Given the description of an element on the screen output the (x, y) to click on. 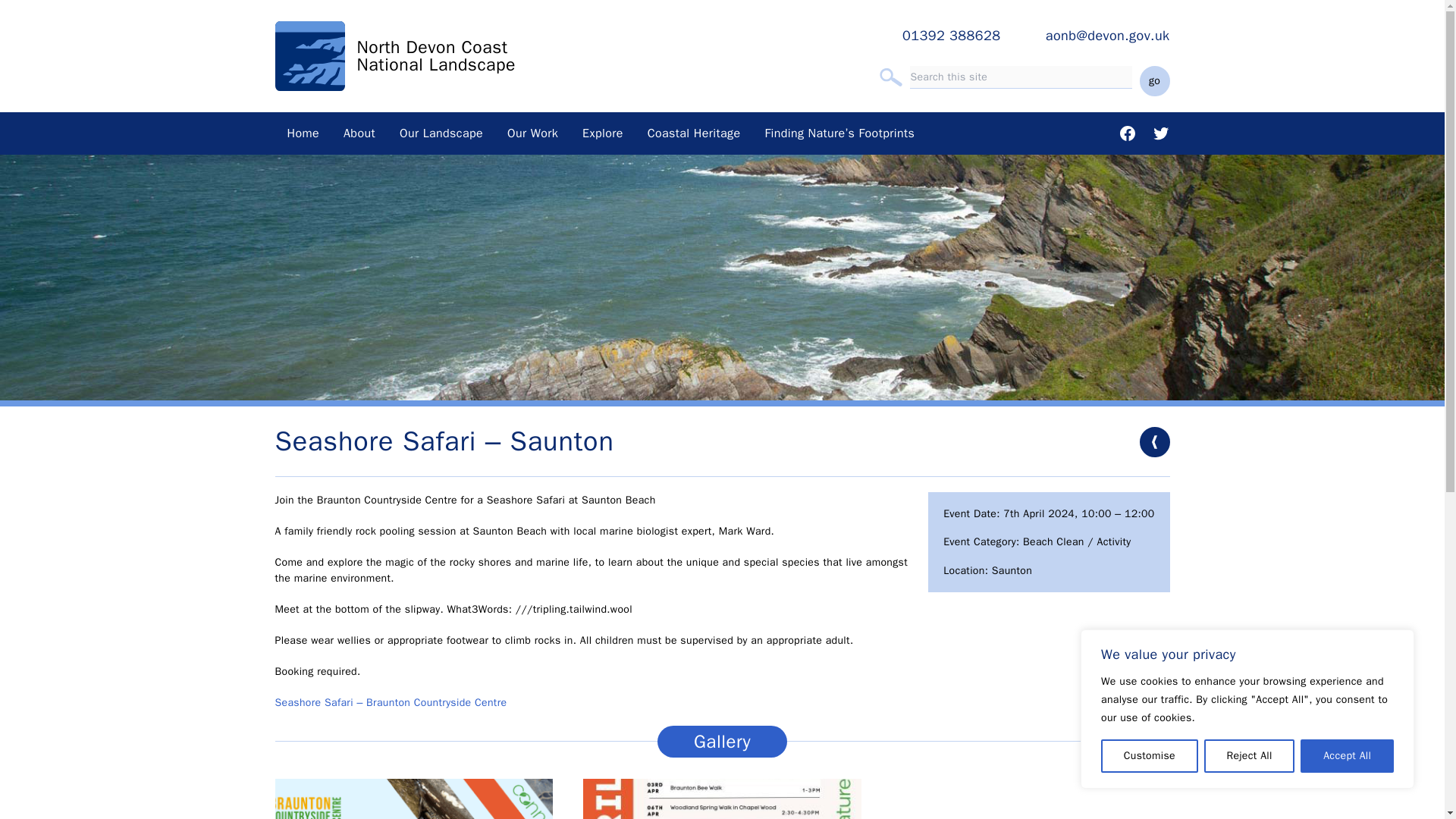
Reject All (1249, 756)
Accept All (1346, 756)
North Devon Coast (431, 47)
About (359, 133)
Home (303, 133)
Our Landscape (441, 133)
go (1153, 81)
Customise (1149, 756)
Our Work (532, 133)
